Given the description of an element on the screen output the (x, y) to click on. 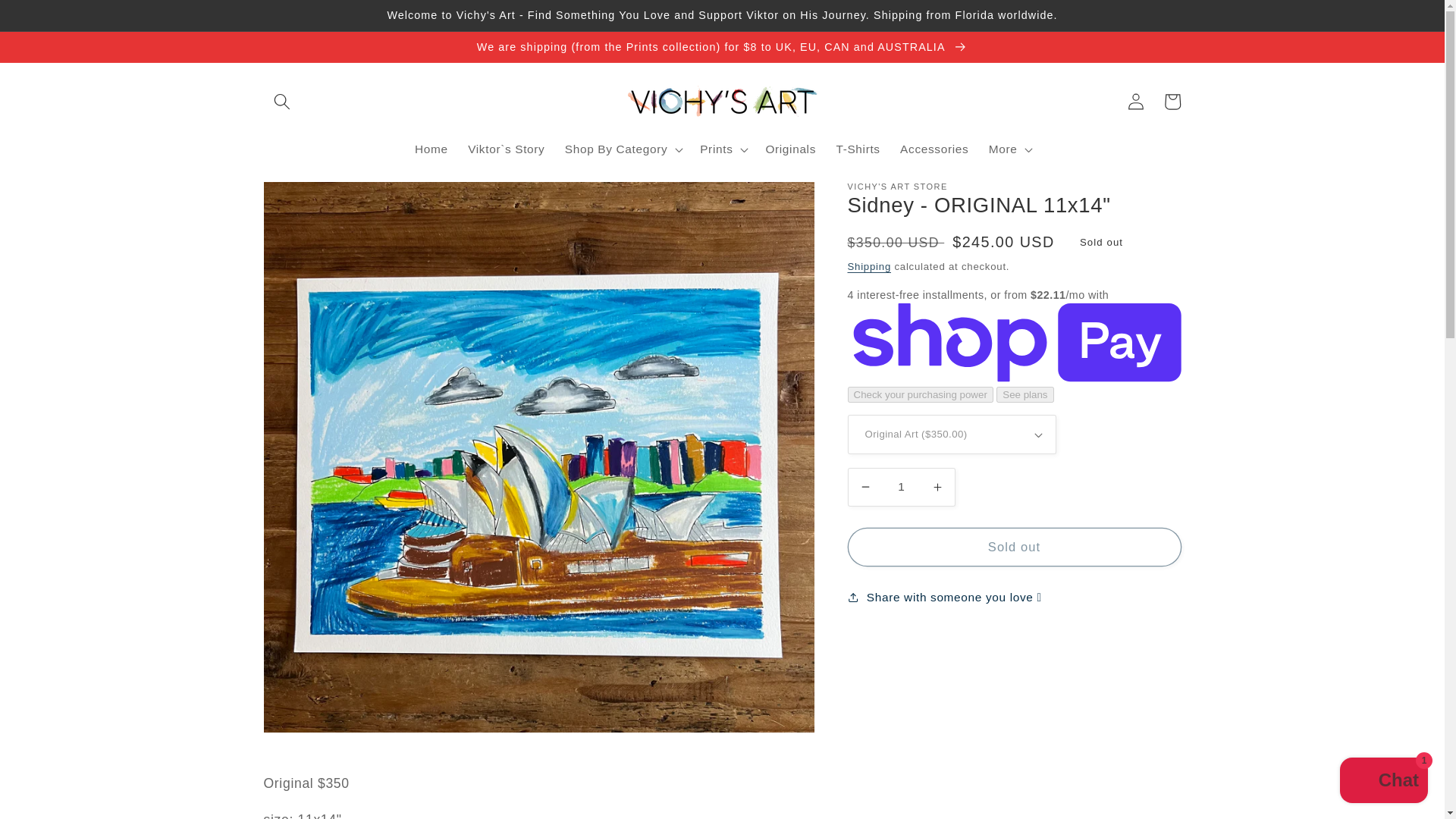
Skip to content (50, 19)
1 (901, 486)
Shopify online store chat (1383, 781)
